Given the description of an element on the screen output the (x, y) to click on. 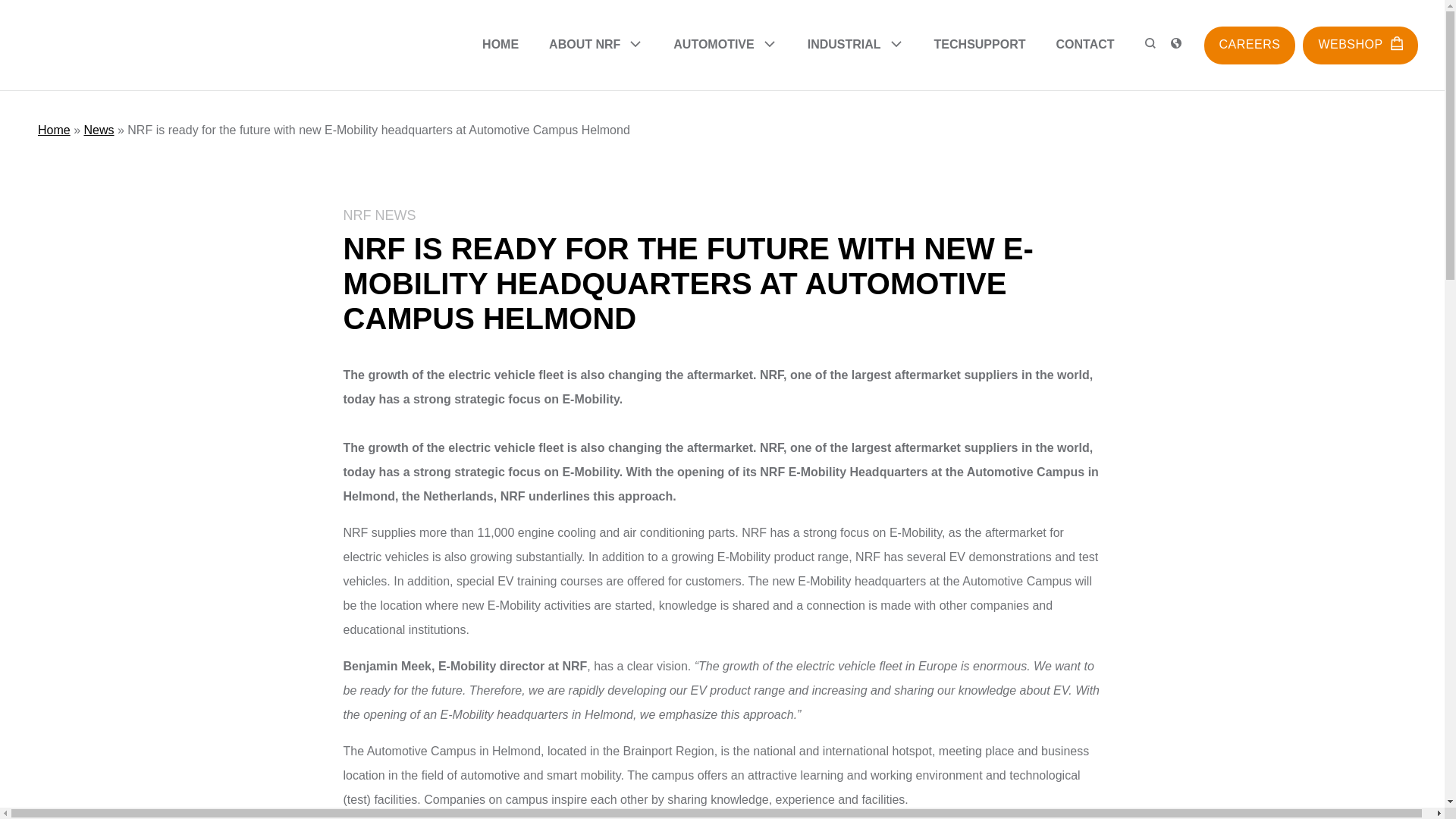
CAREERS (1249, 44)
TECHSUPPORT (980, 43)
INDUSTRIAL (856, 45)
AUTOMOTIVE (724, 45)
HOME (499, 43)
News (97, 129)
CONTACT (1084, 43)
Home (53, 129)
ABOUT NRF (595, 45)
WEBSHOP (1360, 44)
